Given the description of an element on the screen output the (x, y) to click on. 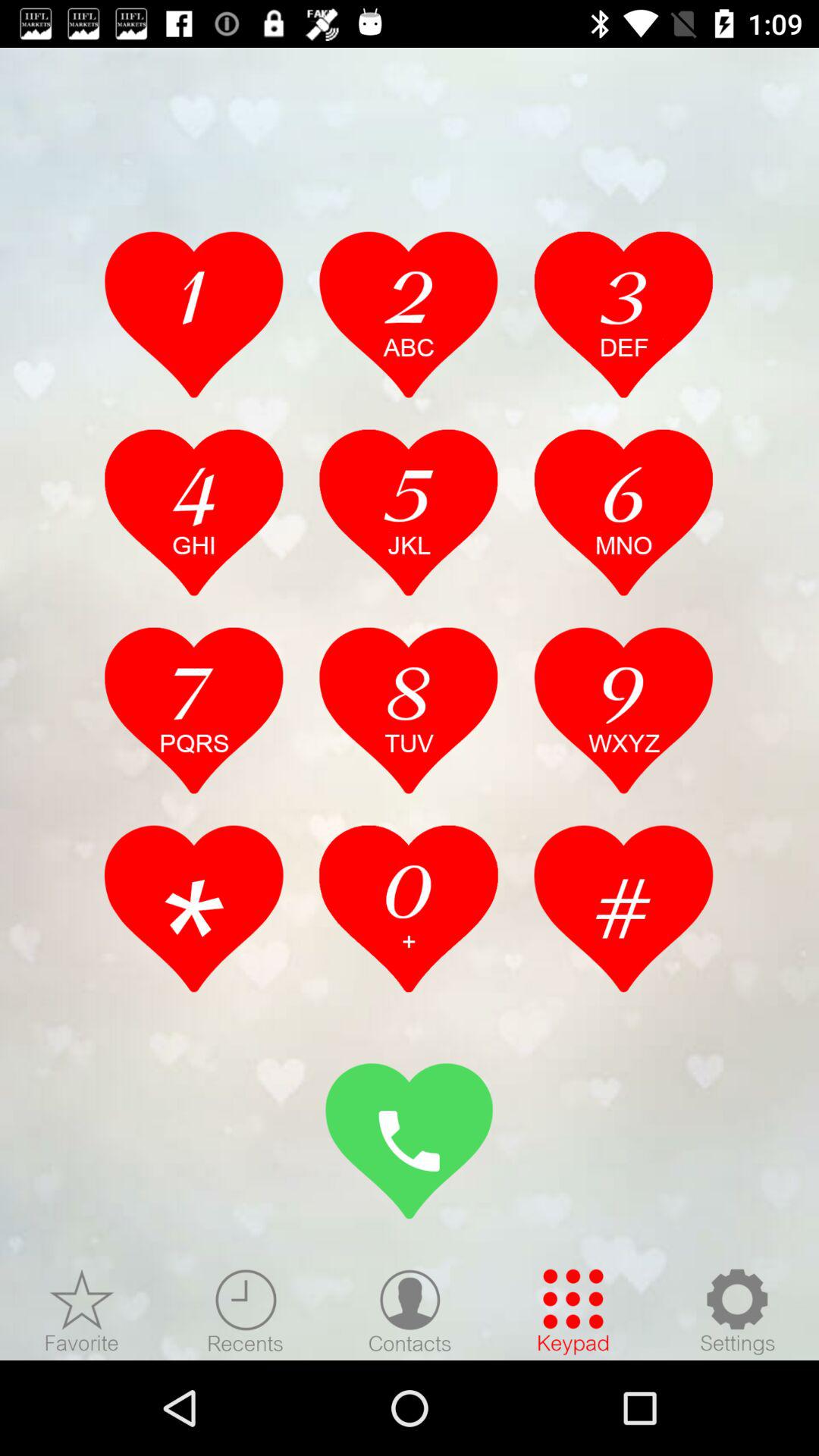
press dial (409, 1140)
